Given the description of an element on the screen output the (x, y) to click on. 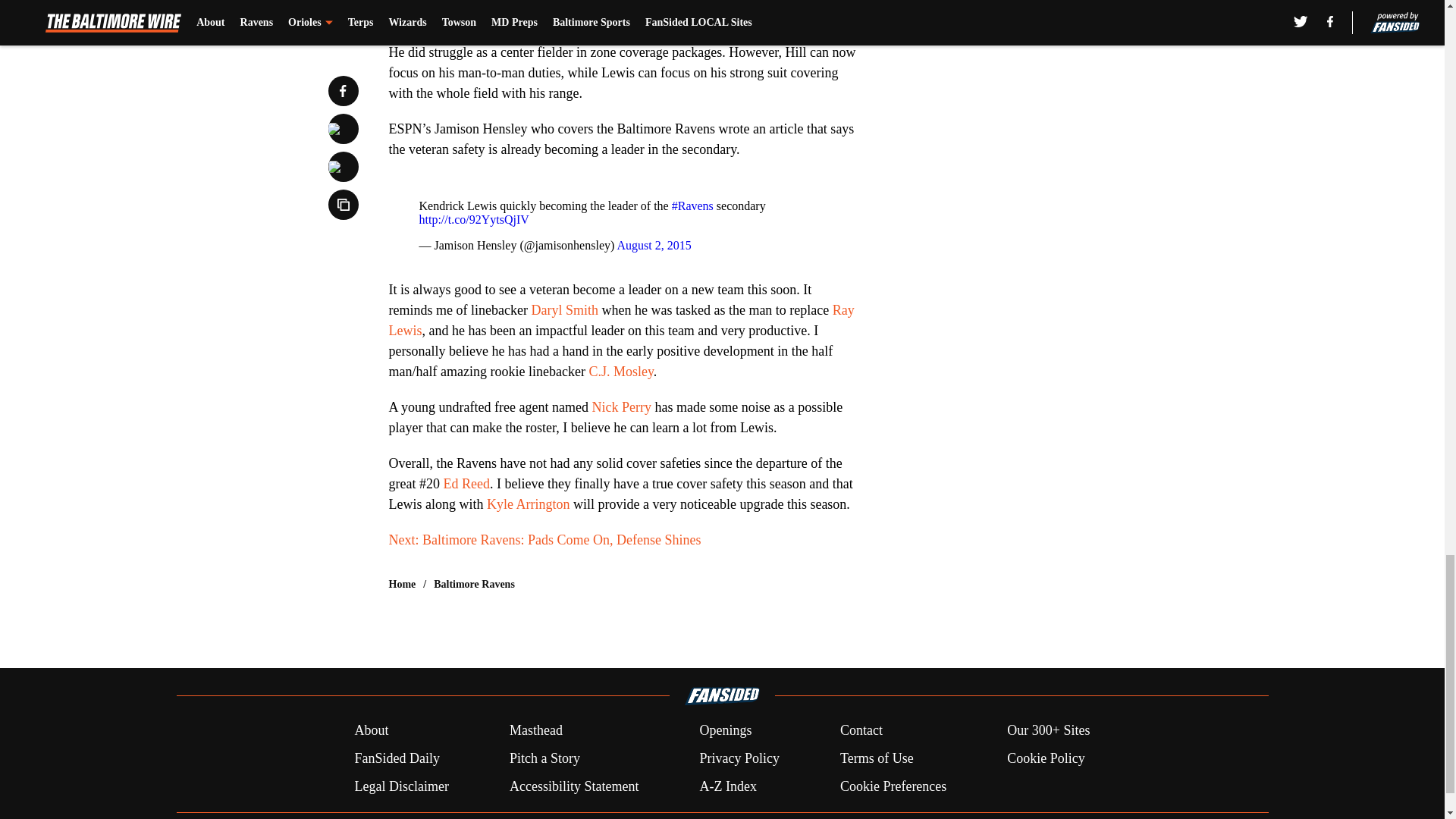
August 2, 2015 (652, 245)
Drew Brees (677, 16)
Jimmy Graham (640, 2)
